Given the description of an element on the screen output the (x, y) to click on. 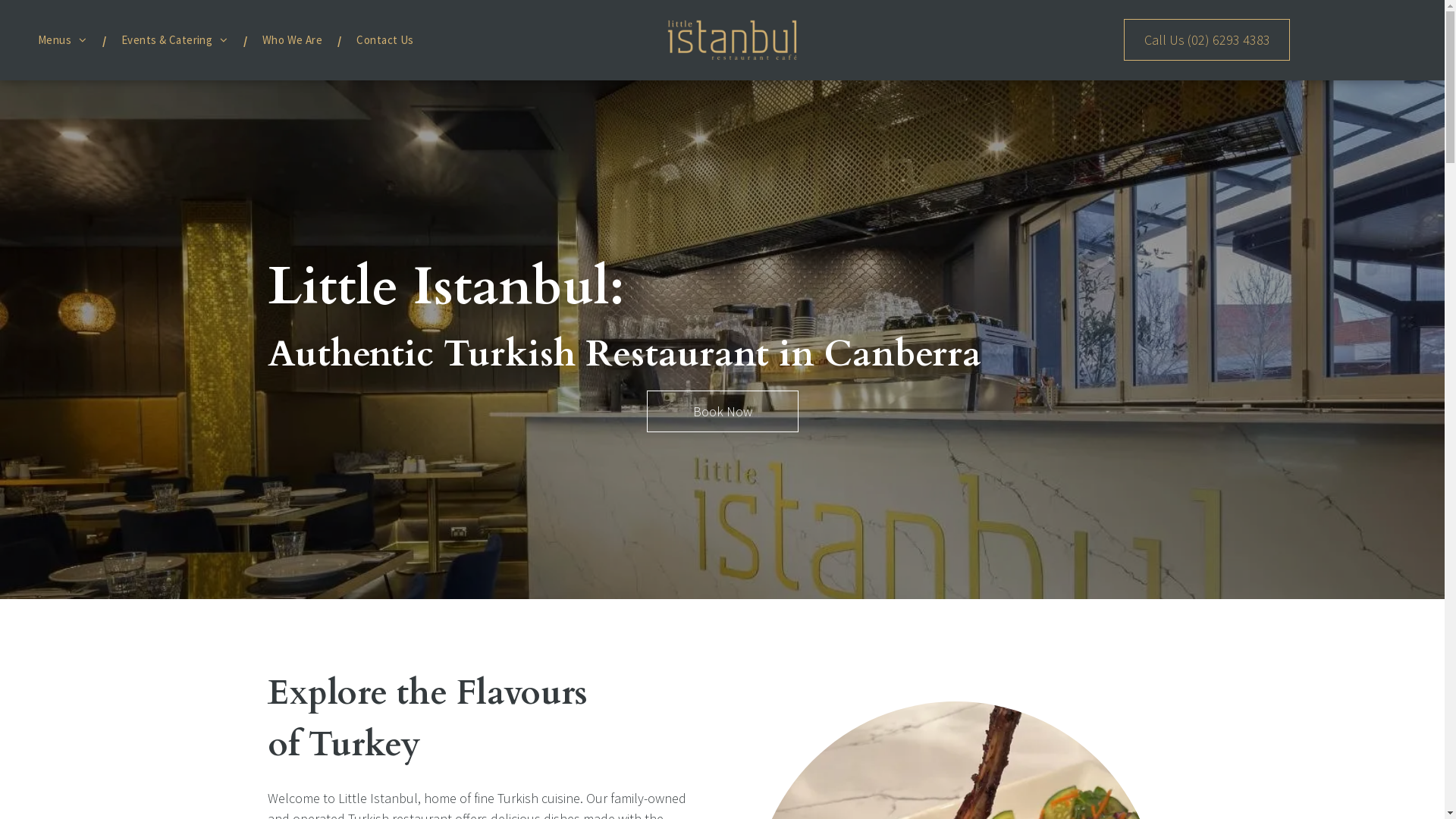
Call Us (02) 6293 4383 Element type: text (1206, 39)
Little Istanbul: Authentic Turkish Restaurant in Canberra Element type: hover (731, 40)
Contact Us Element type: text (385, 40)
Who We Are Element type: text (292, 40)
Book Now Element type: text (721, 411)
Events & Catering Element type: text (174, 40)
Menus Element type: text (62, 40)
